Given the description of an element on the screen output the (x, y) to click on. 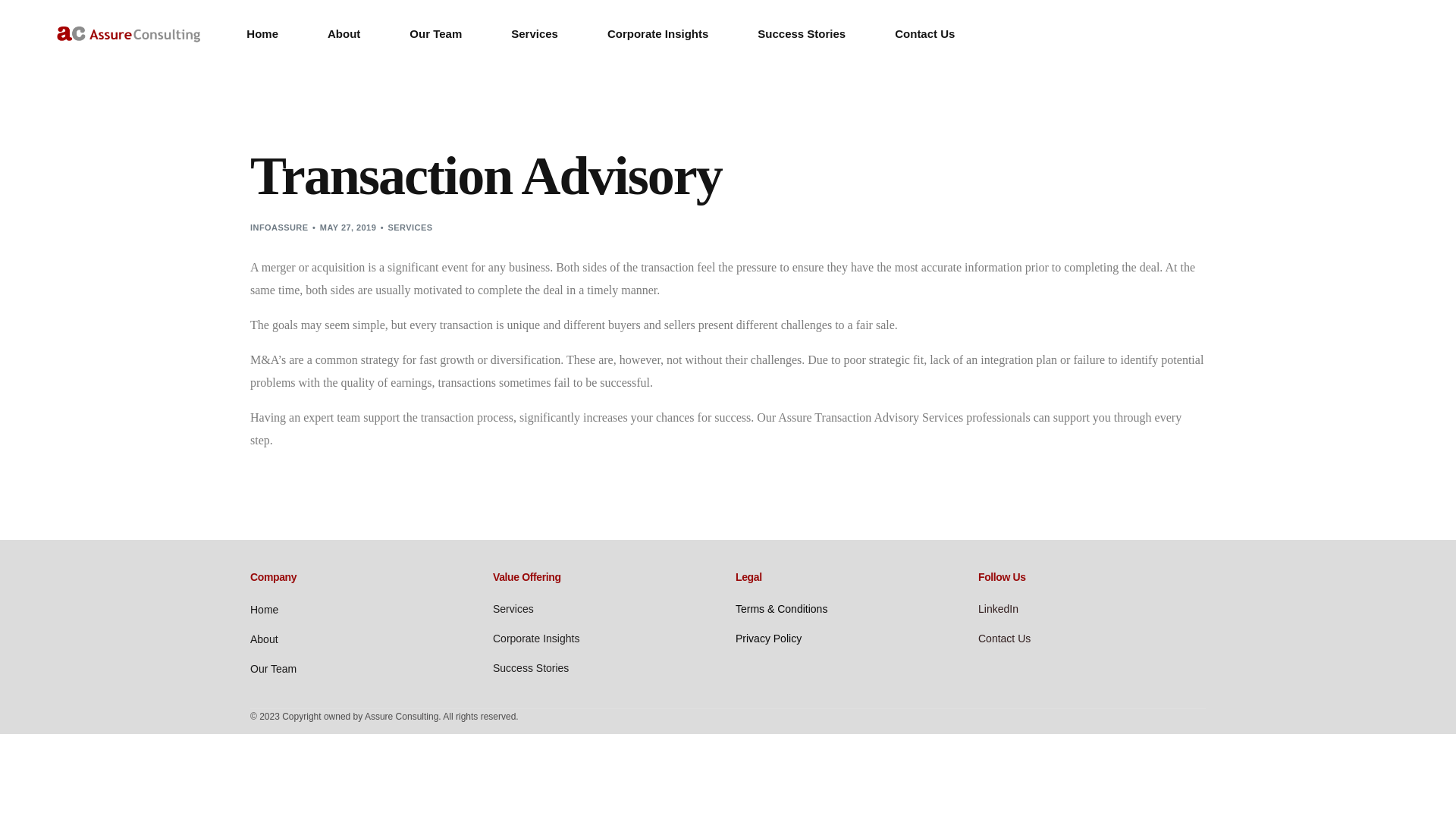
Services (606, 609)
Contact Us (1091, 638)
Privacy Policy (848, 638)
Our Team (363, 669)
Corporate Insights (606, 638)
SERVICES (410, 226)
INFOASSURE (279, 226)
About (363, 639)
LinkedIn (1091, 609)
Posts by infoassure (279, 226)
Success Stories (606, 669)
Home (363, 610)
